Given the description of an element on the screen output the (x, y) to click on. 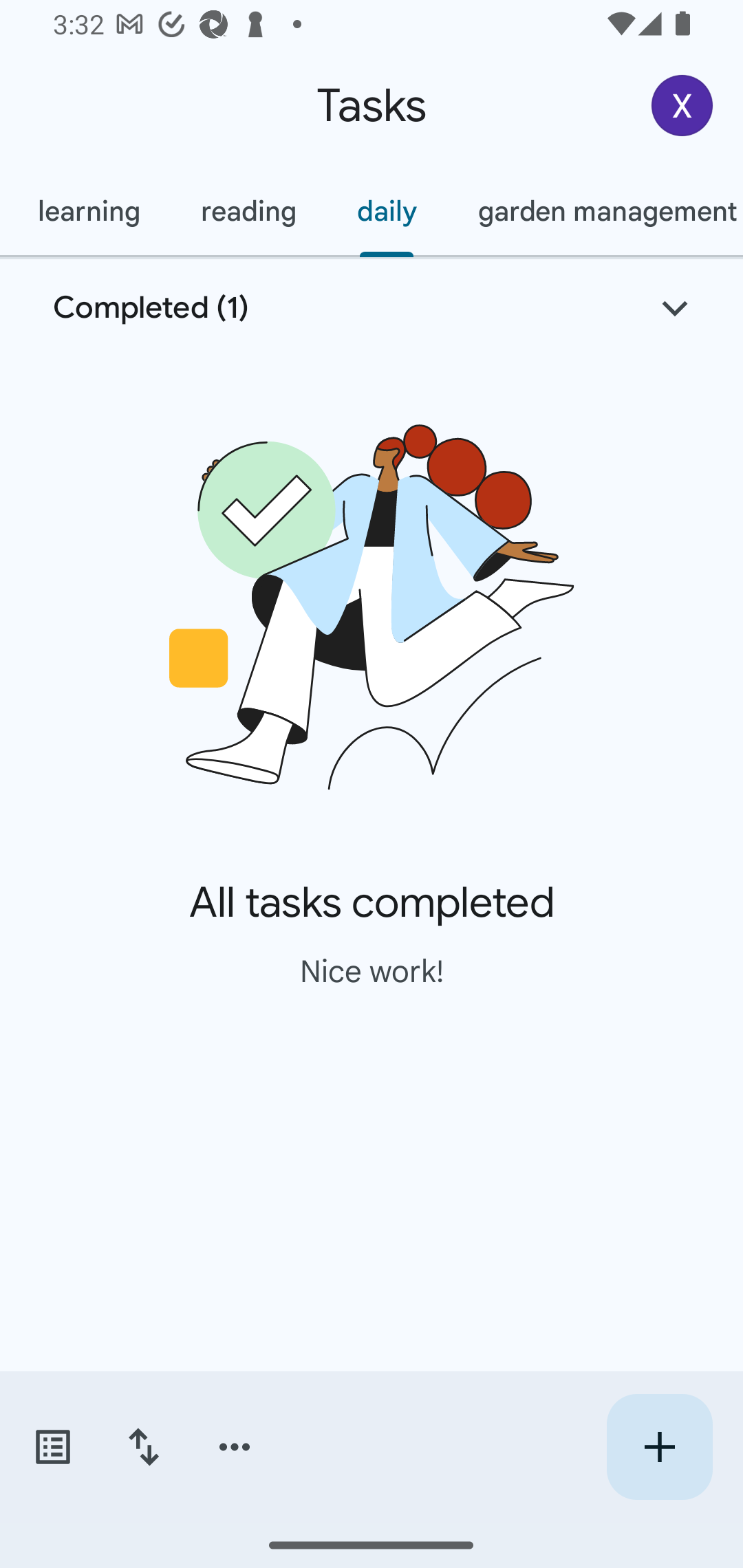
learning (88, 211)
reading (248, 211)
garden management (595, 211)
Completed (1) (371, 307)
Switch task lists (52, 1447)
Create new task (659, 1446)
Change sort order (143, 1446)
More options (234, 1446)
